Given the description of an element on the screen output the (x, y) to click on. 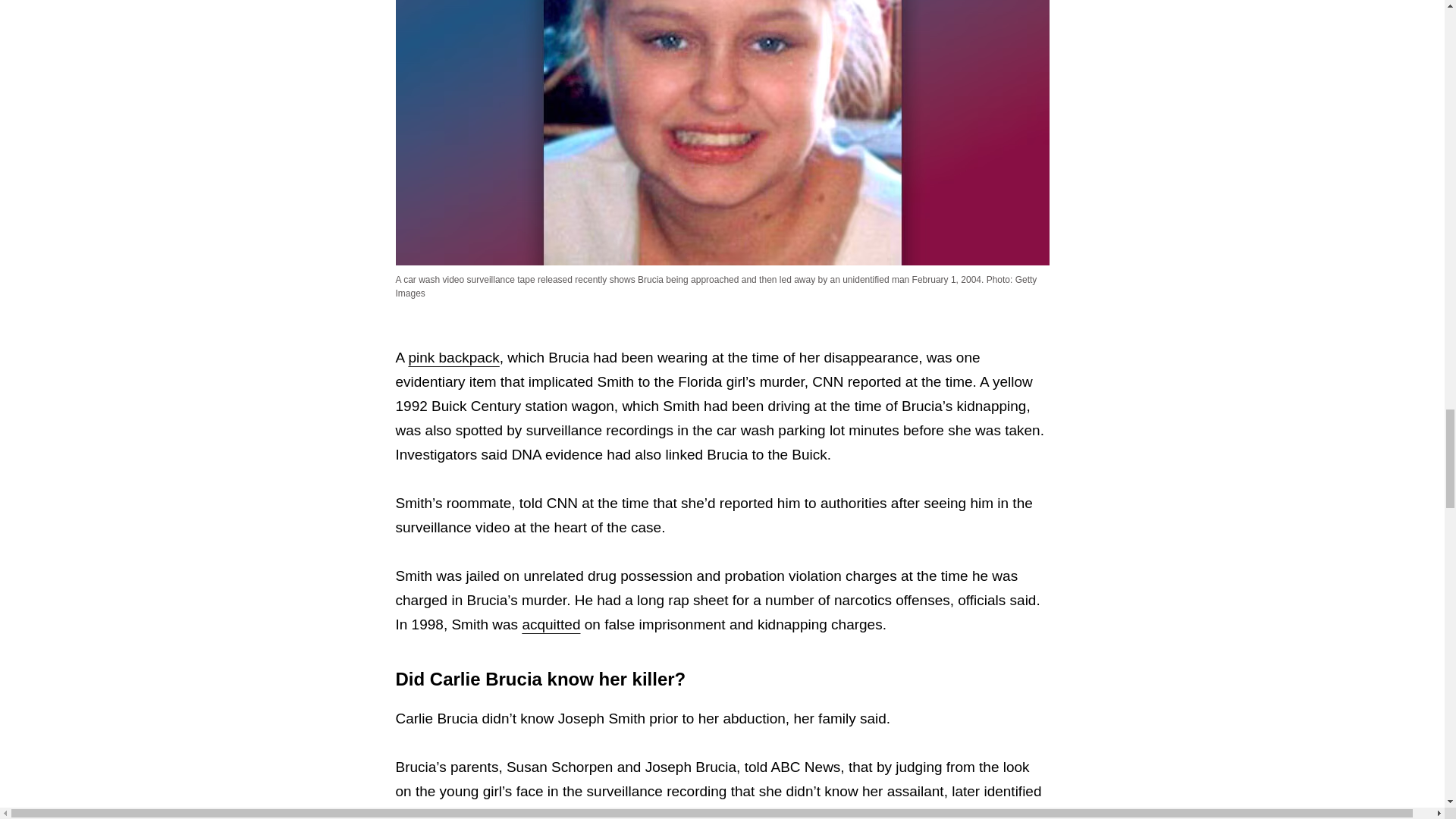
pink backpack (453, 357)
acquitted (550, 624)
